Given the description of an element on the screen output the (x, y) to click on. 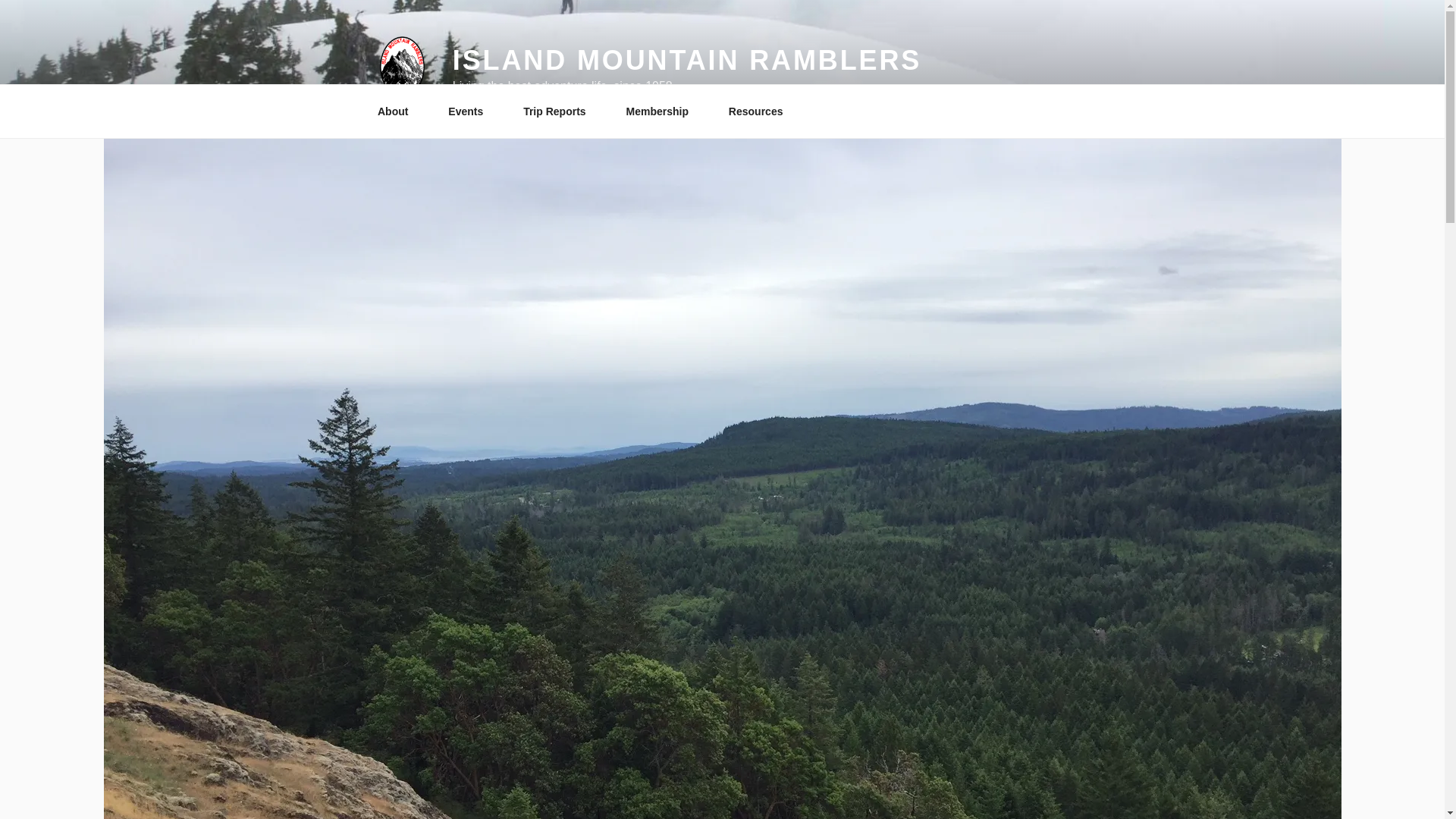
Trip Reports (560, 110)
About (397, 110)
Membership (661, 110)
Resources (760, 110)
ISLAND MOUNTAIN RAMBLERS (686, 60)
Events (470, 110)
